Given the description of an element on the screen output the (x, y) to click on. 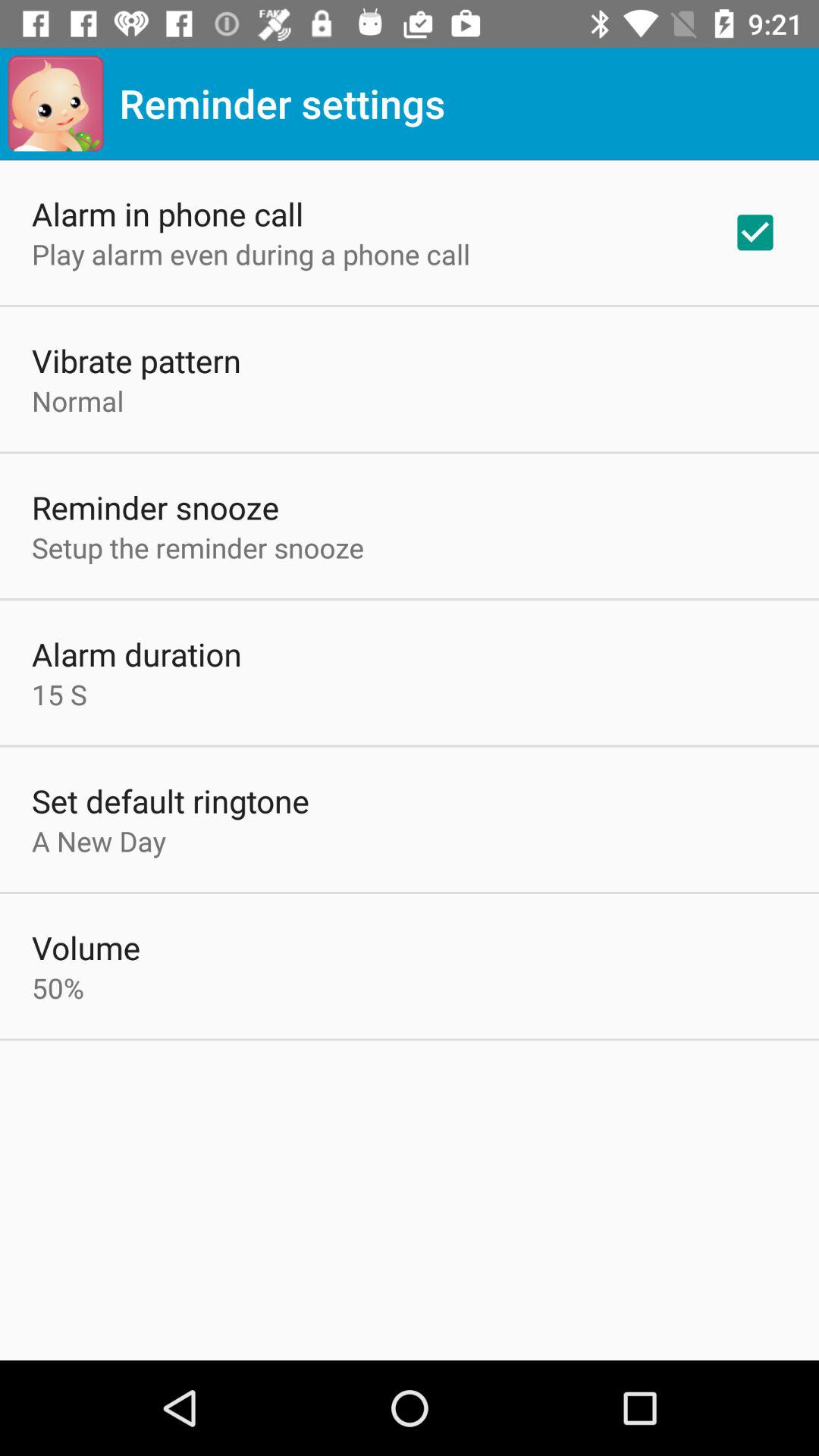
turn off app below the 15 s (170, 800)
